Given the description of an element on the screen output the (x, y) to click on. 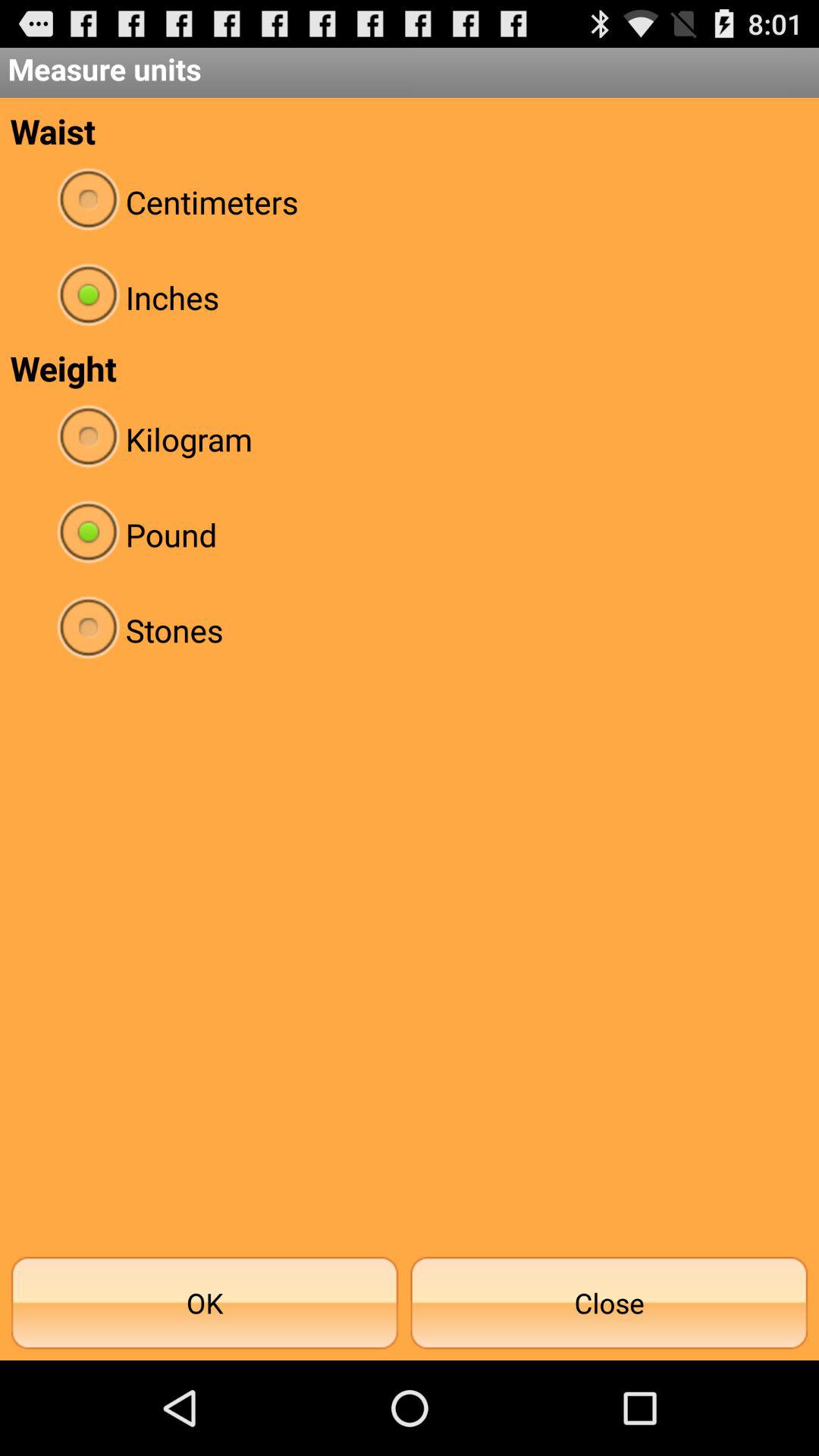
scroll until centimeters icon (409, 201)
